Given the description of an element on the screen output the (x, y) to click on. 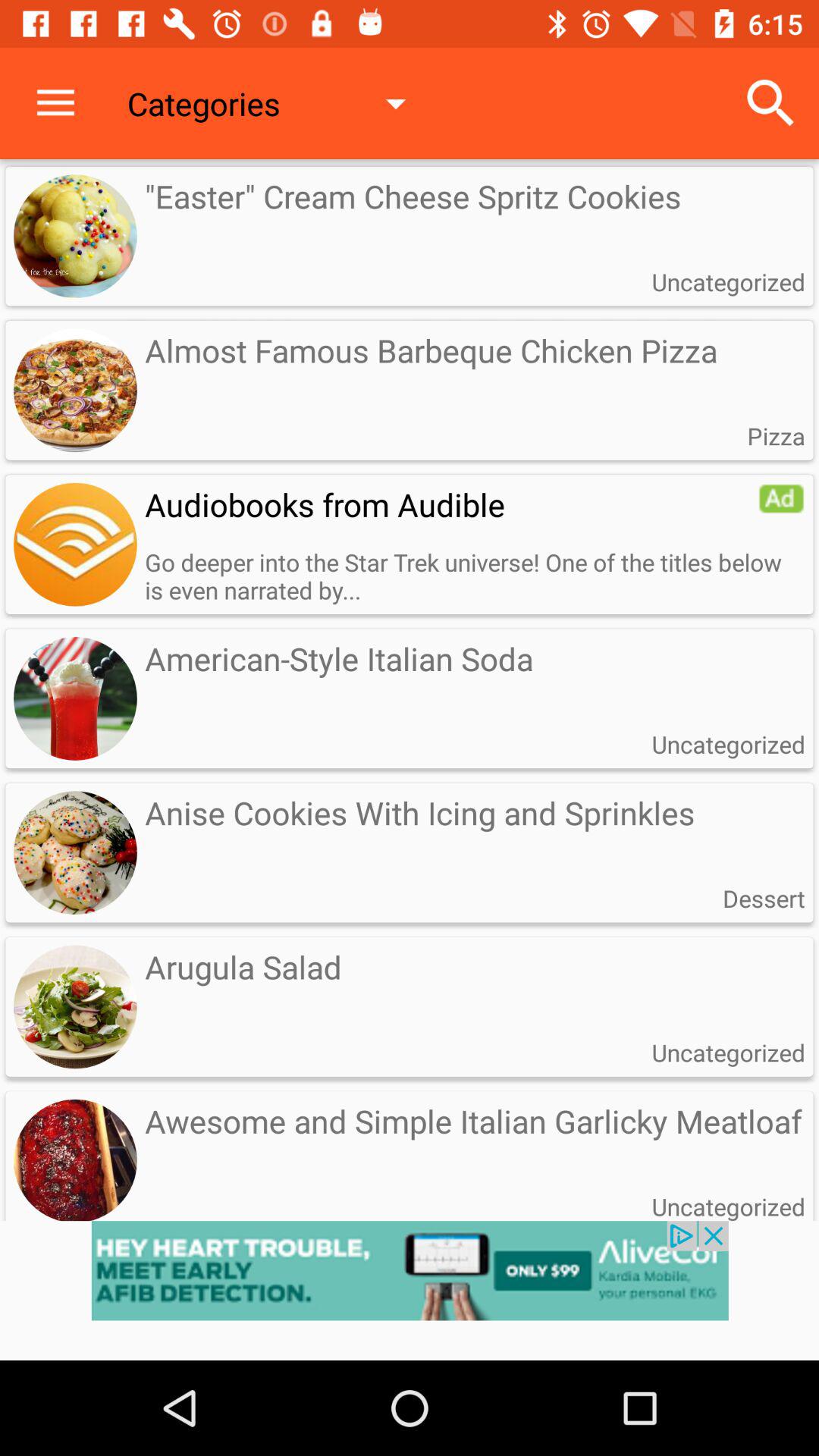
advert pop up (409, 1290)
